Given the description of an element on the screen output the (x, y) to click on. 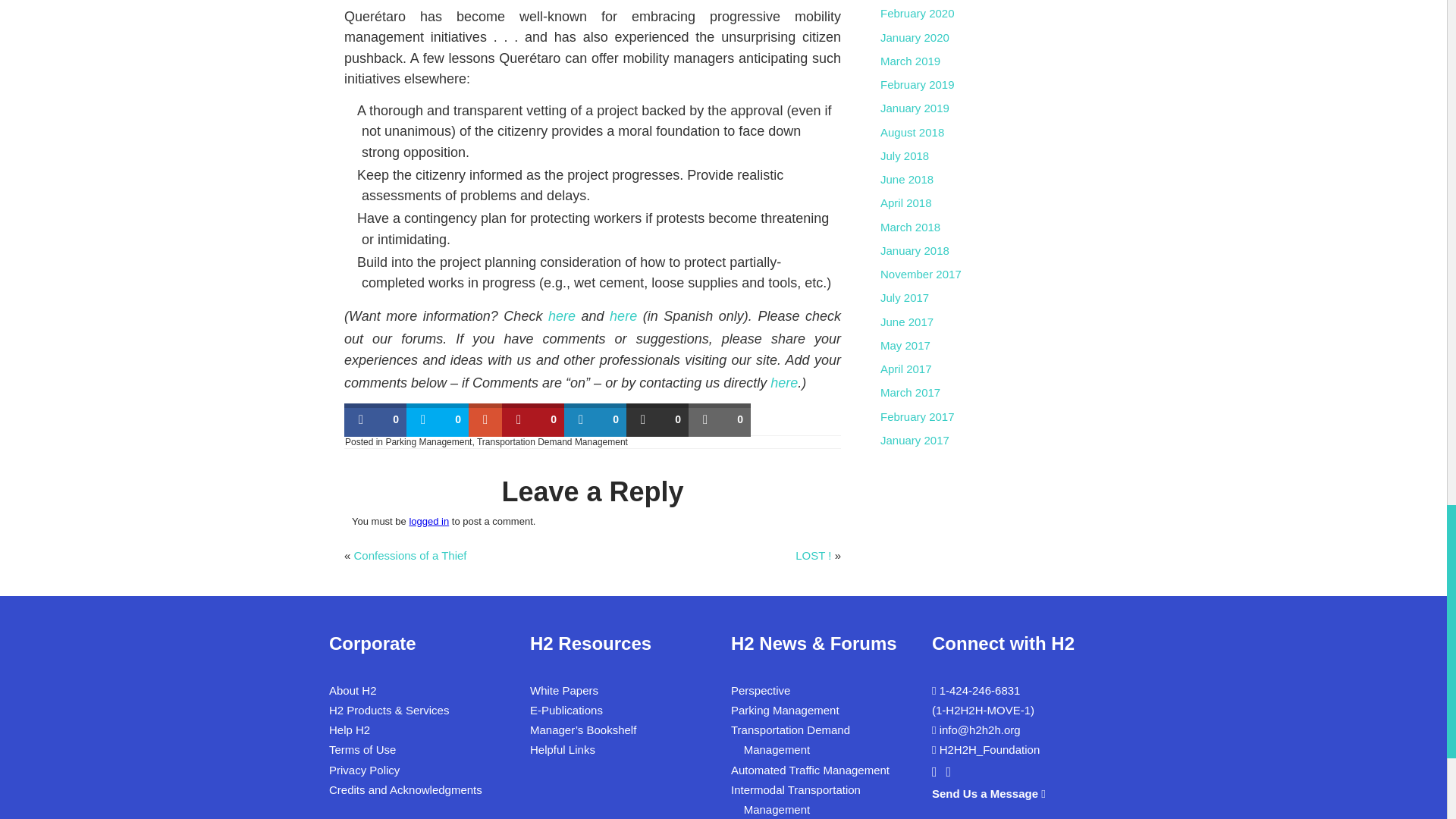
Confessions of a Thief (410, 554)
LOST ! (812, 554)
